Given the description of an element on the screen output the (x, y) to click on. 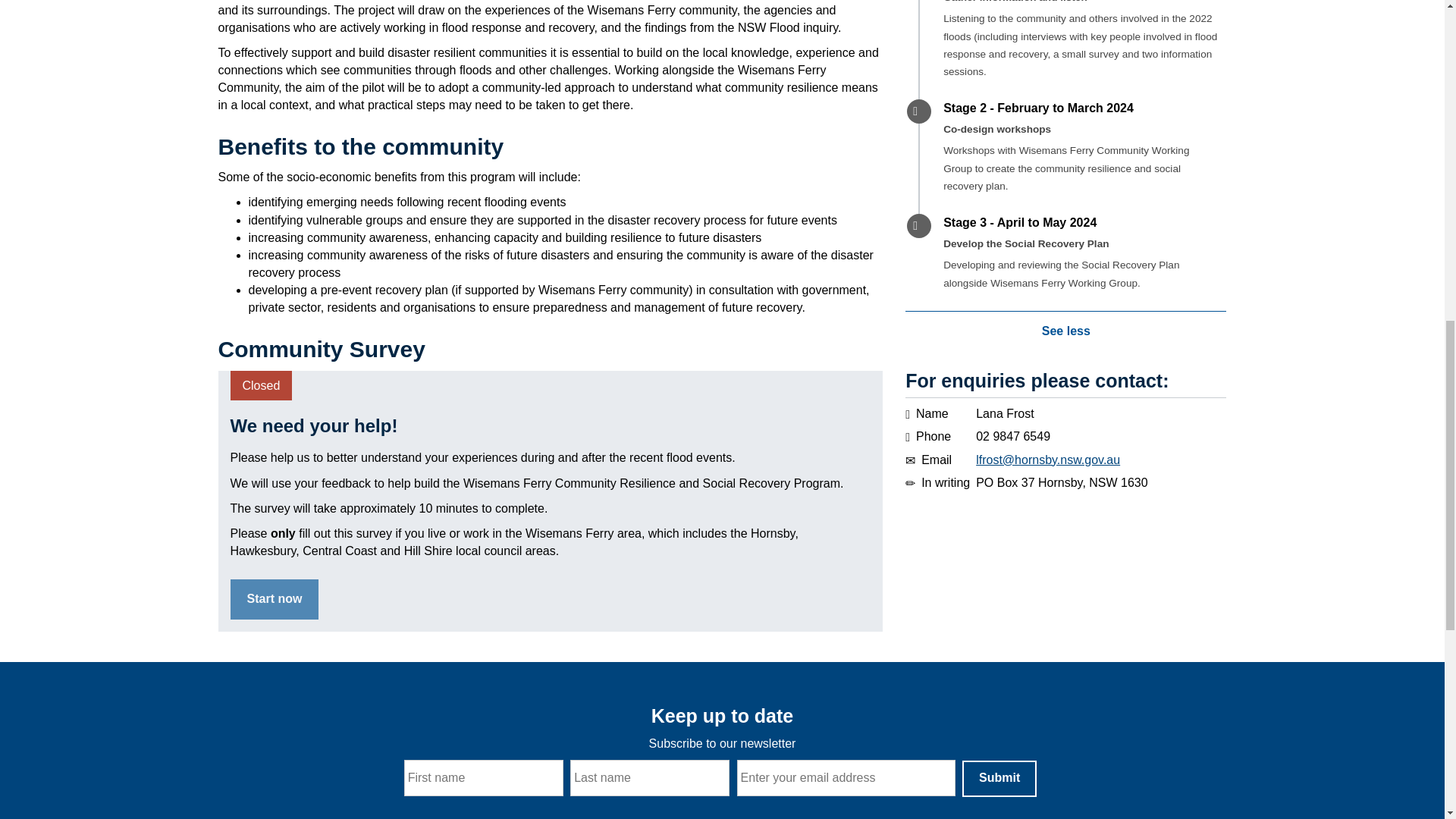
Start now (274, 599)
